Given the description of an element on the screen output the (x, y) to click on. 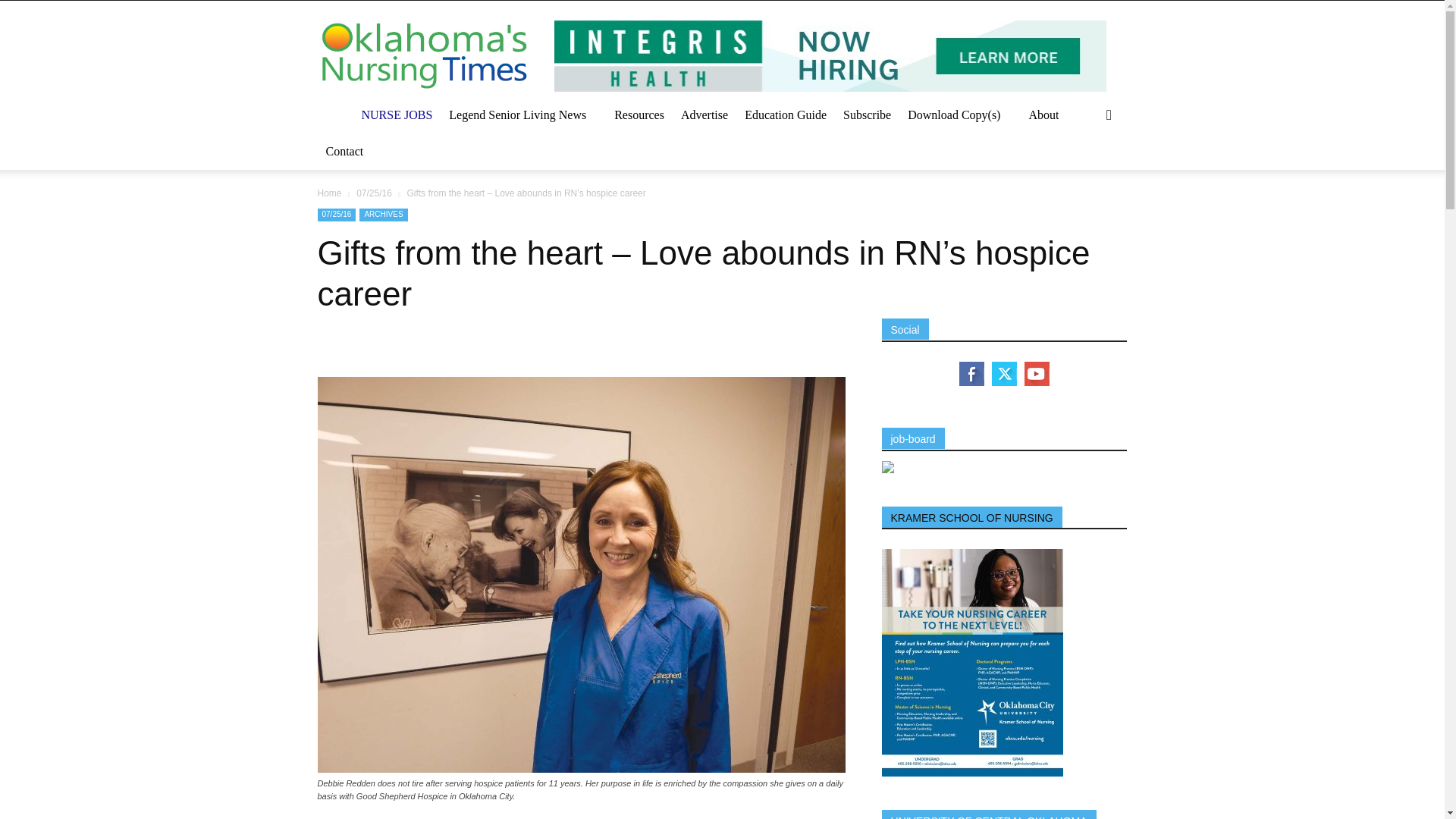
Subscribe (866, 115)
NURSE JOBS (397, 115)
Resources (638, 115)
Home (328, 193)
Advertise (704, 115)
ARCHIVES (383, 214)
Education Guide (785, 115)
Legend Senior Living News (517, 115)
About (1043, 115)
Contact (344, 151)
Search (1085, 175)
